Given the description of an element on the screen output the (x, y) to click on. 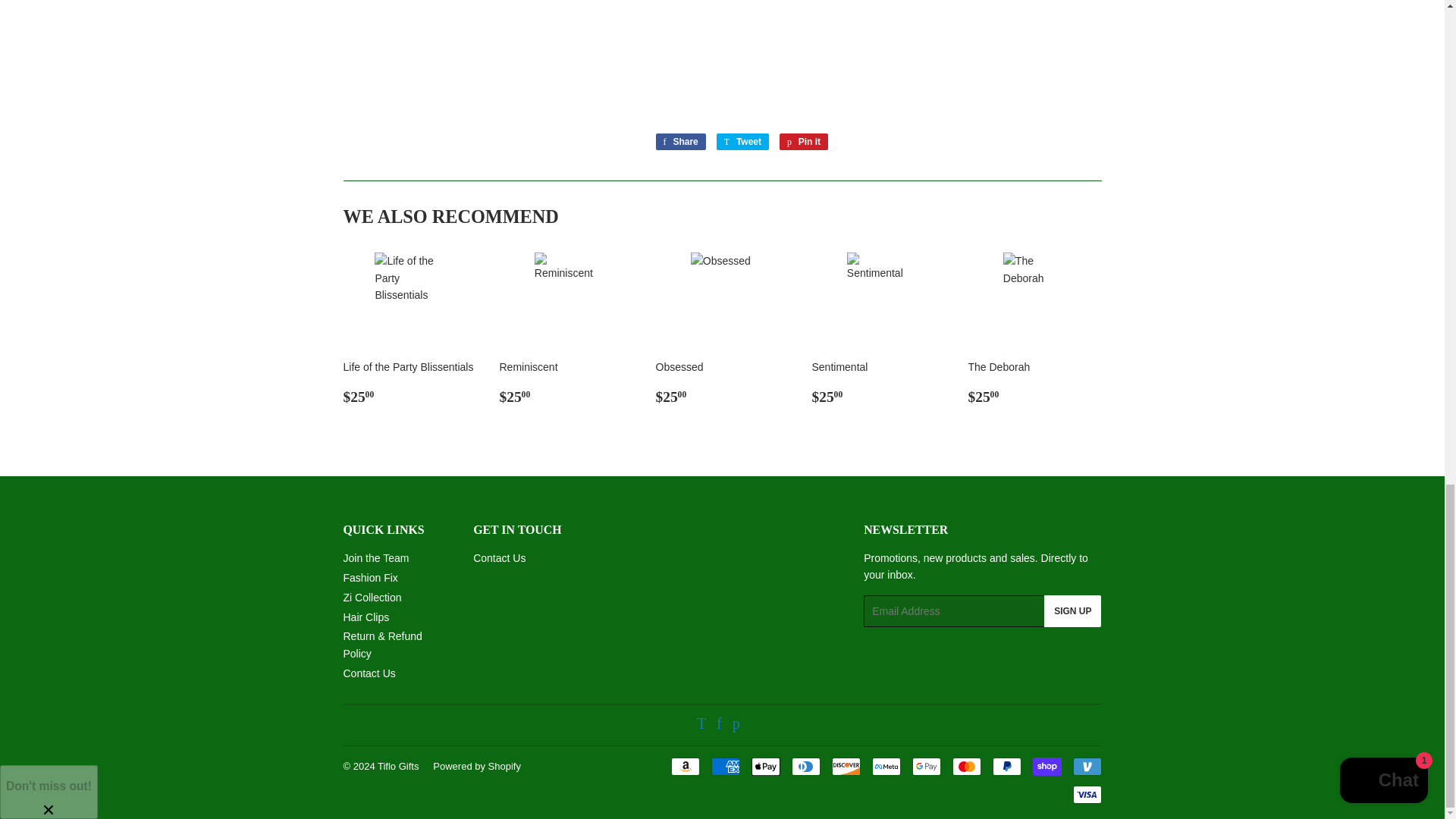
Amazon (683, 766)
Contact Us (499, 558)
Apple Pay (764, 766)
Tweet on Twitter (742, 141)
American Express (725, 766)
Venmo (1085, 766)
Diners Club (806, 766)
Share on Facebook (679, 141)
Pin on Pinterest (803, 141)
PayPal (1005, 766)
Visa (1085, 794)
Discover (845, 766)
Shop Pay (1046, 766)
Google Pay (925, 766)
Meta Pay (886, 766)
